Given the description of an element on the screen output the (x, y) to click on. 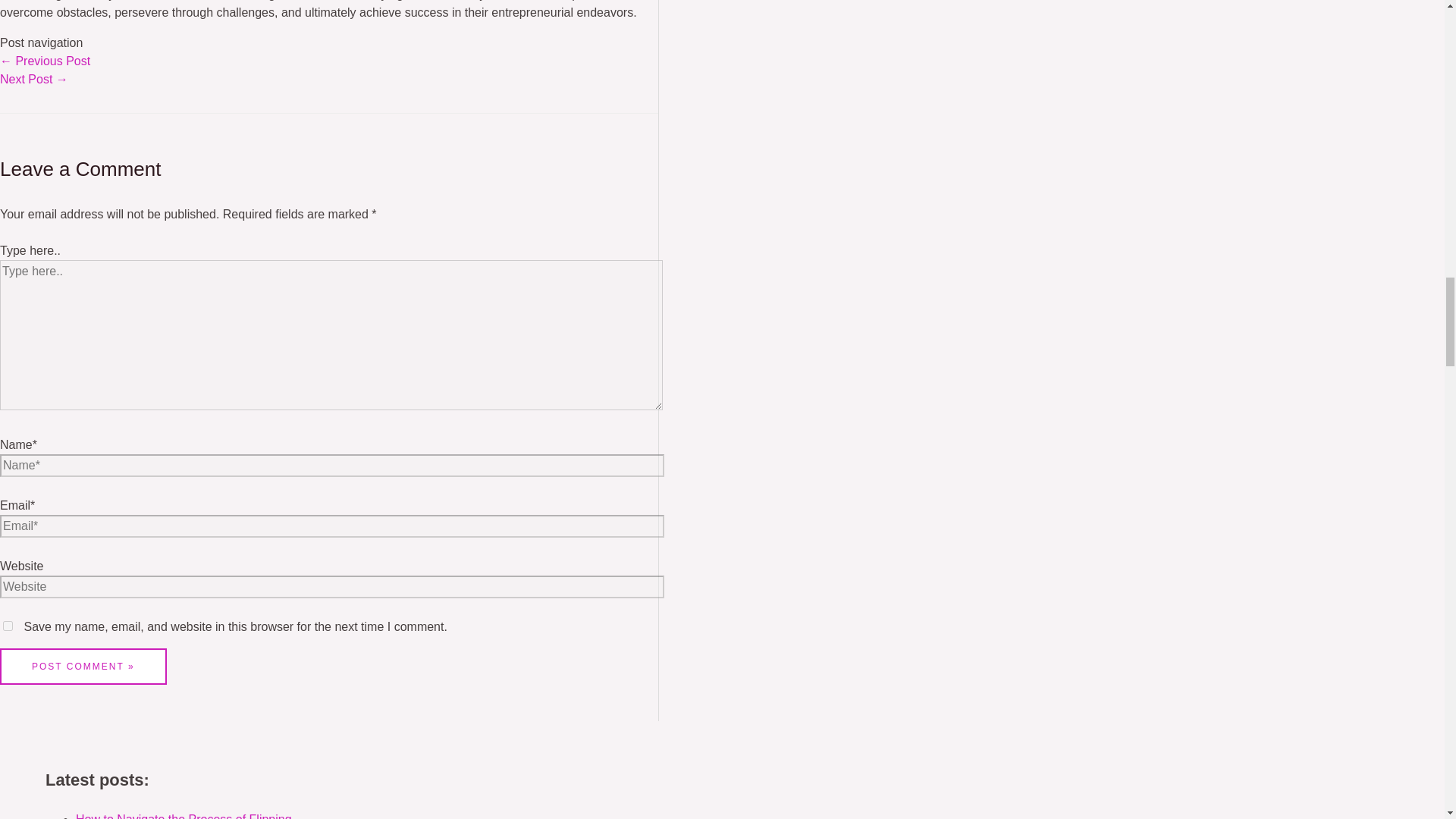
yes (7, 624)
